Given the description of an element on the screen output the (x, y) to click on. 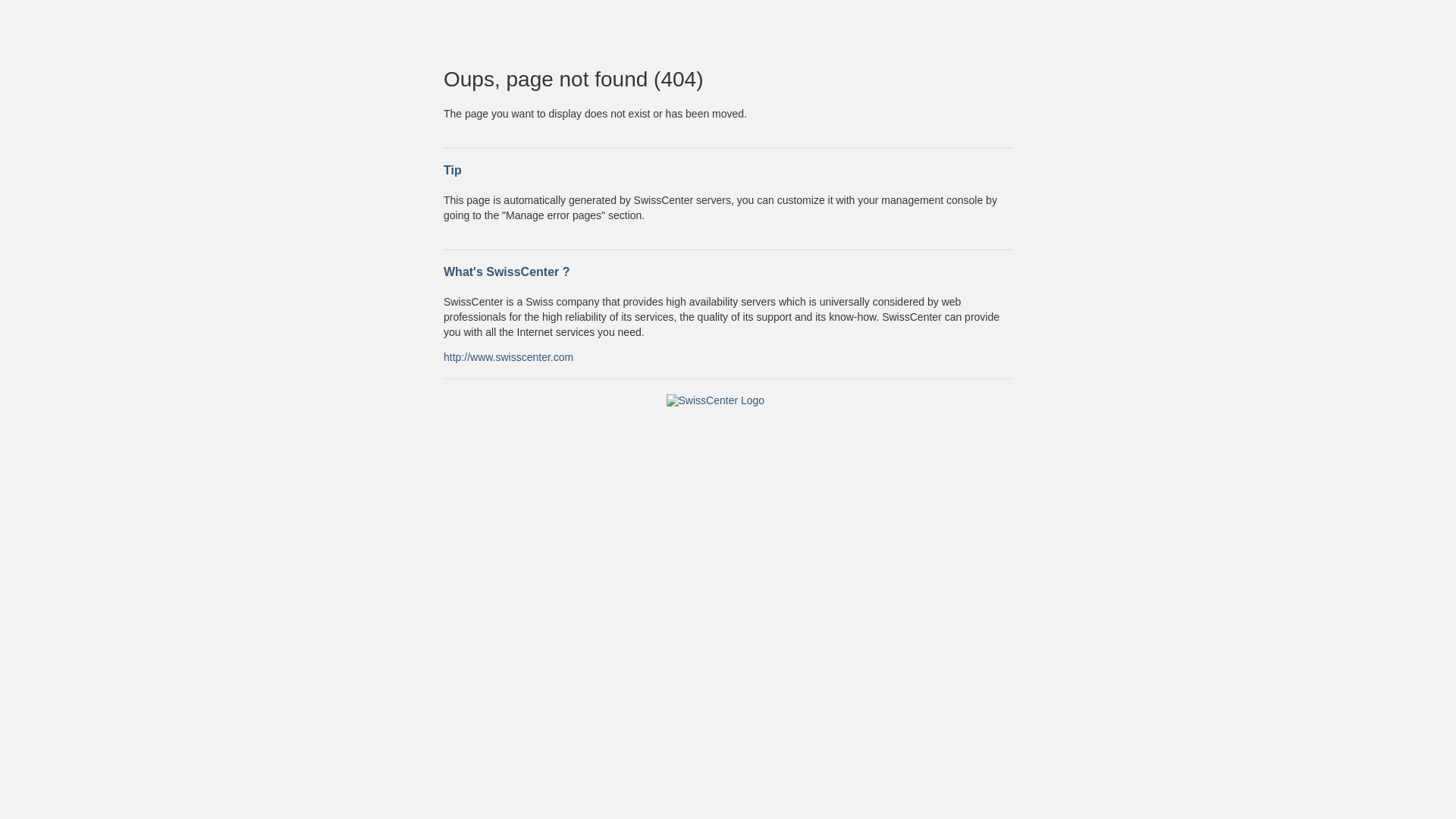
http://www.swisscenter.com Element type: text (508, 356)
